Given the description of an element on the screen output the (x, y) to click on. 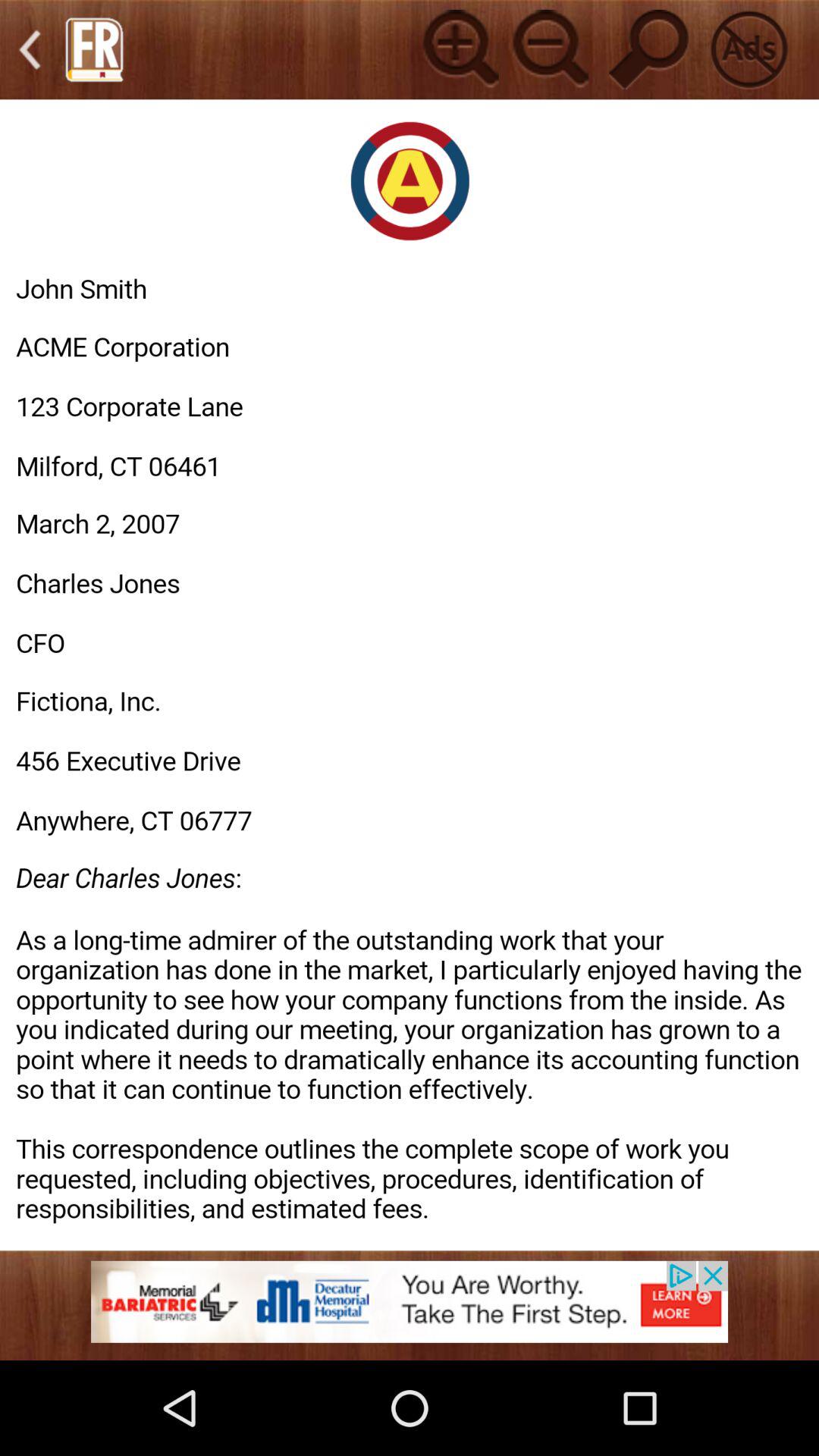
switch to search (648, 49)
